Given the description of an element on the screen output the (x, y) to click on. 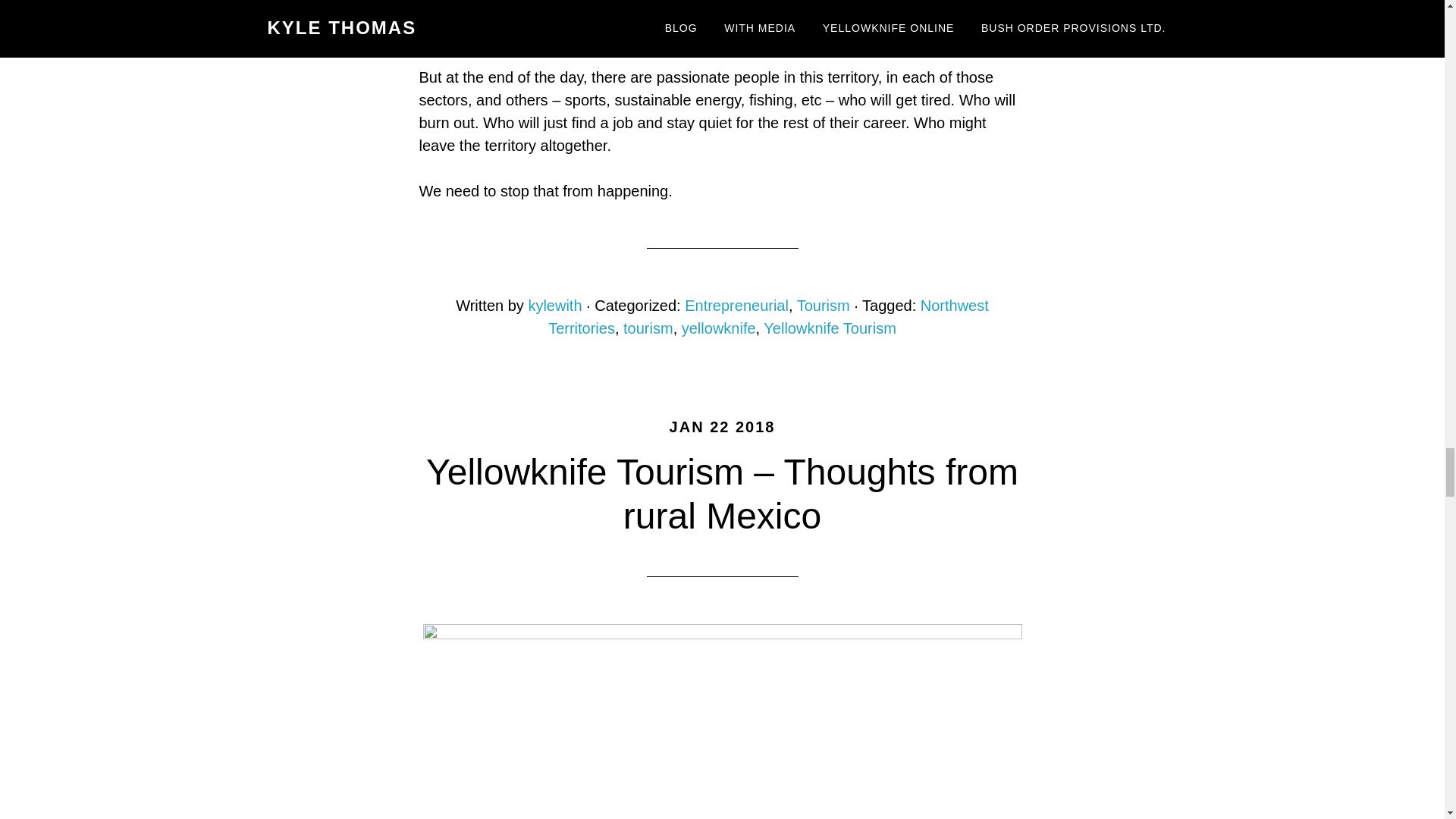
Entrepreneurial (736, 305)
Yellowknife Tourism (829, 328)
Tourism (823, 305)
yellowknife (718, 328)
kylewith (553, 305)
tourism (647, 328)
Northwest Territories (768, 316)
